Given the description of an element on the screen output the (x, y) to click on. 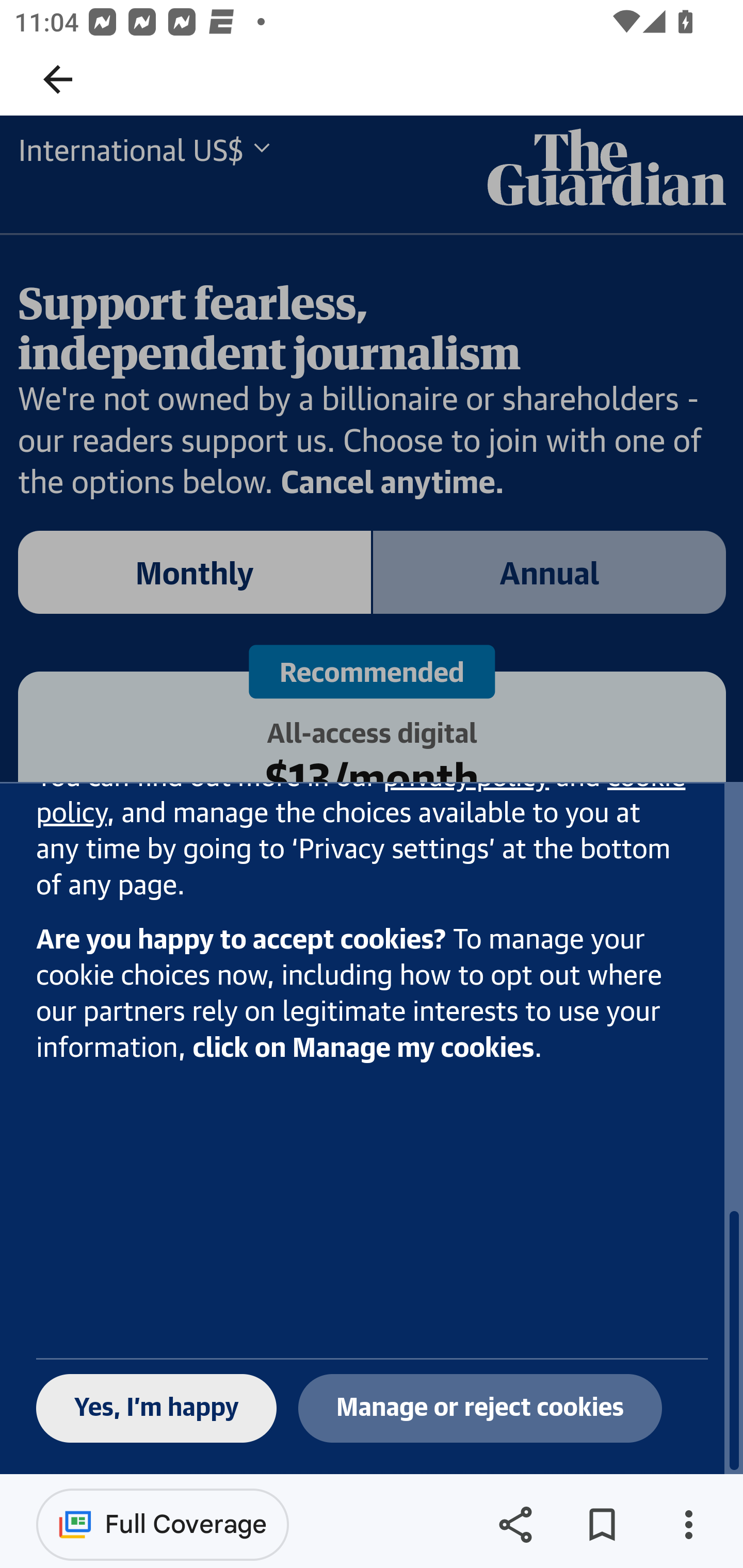
Navigate up (57, 79)
Subscribe (372, 874)
Yes, I’m happy (156, 1408)
Manage or reject cookies (479, 1408)
Share (514, 1524)
Save for later (601, 1524)
More options (688, 1524)
Full Coverage (162, 1524)
